Given the description of an element on the screen output the (x, y) to click on. 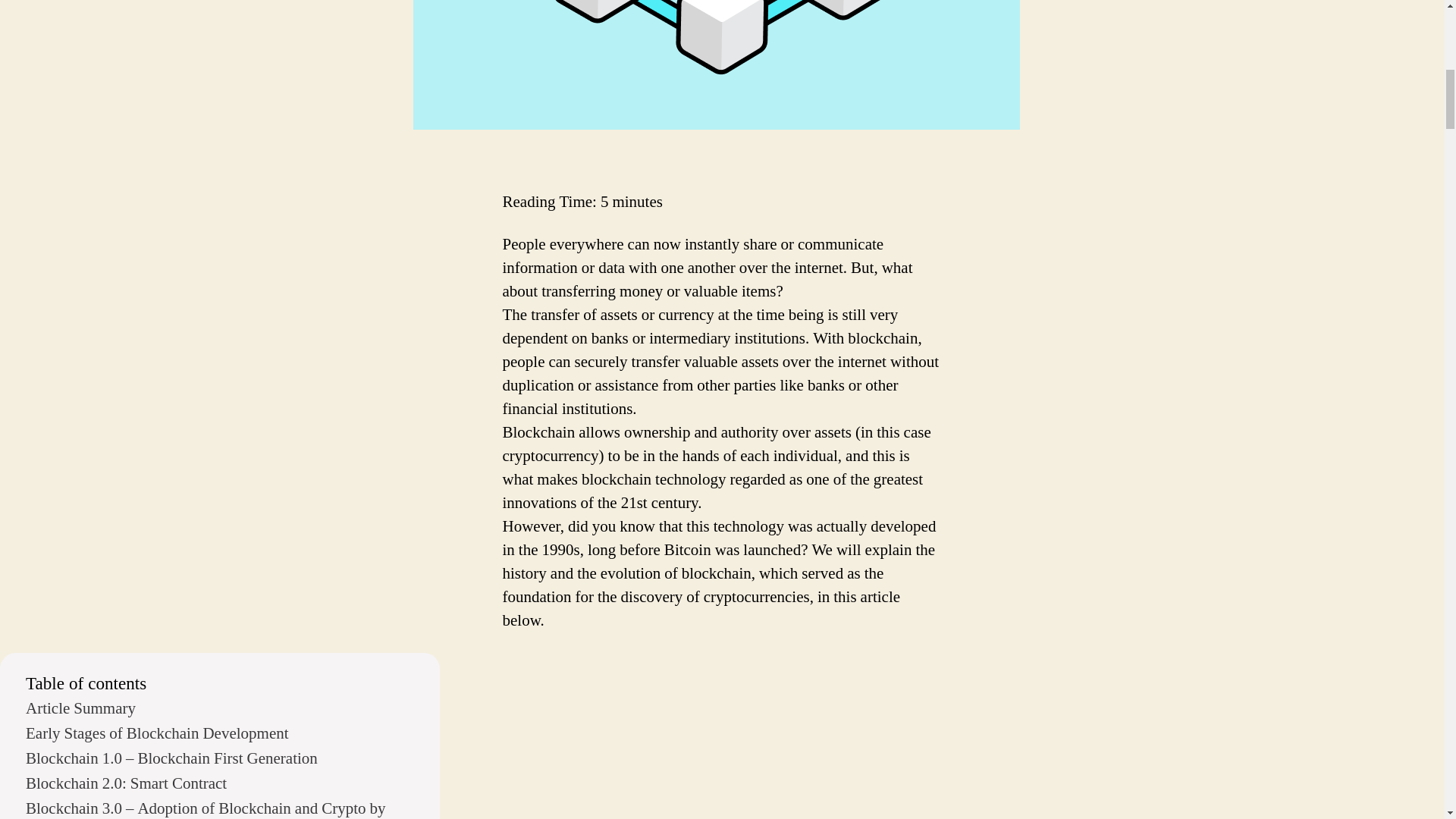
Early Stages of Blockchain Development (219, 734)
Article Summary (219, 709)
Early Stages of Blockchain Development (219, 734)
Article Summary (219, 709)
Blockchain 2.0: Smart Contract (219, 784)
Blockchain 2.0: Smart Contract (219, 784)
